Given the description of an element on the screen output the (x, y) to click on. 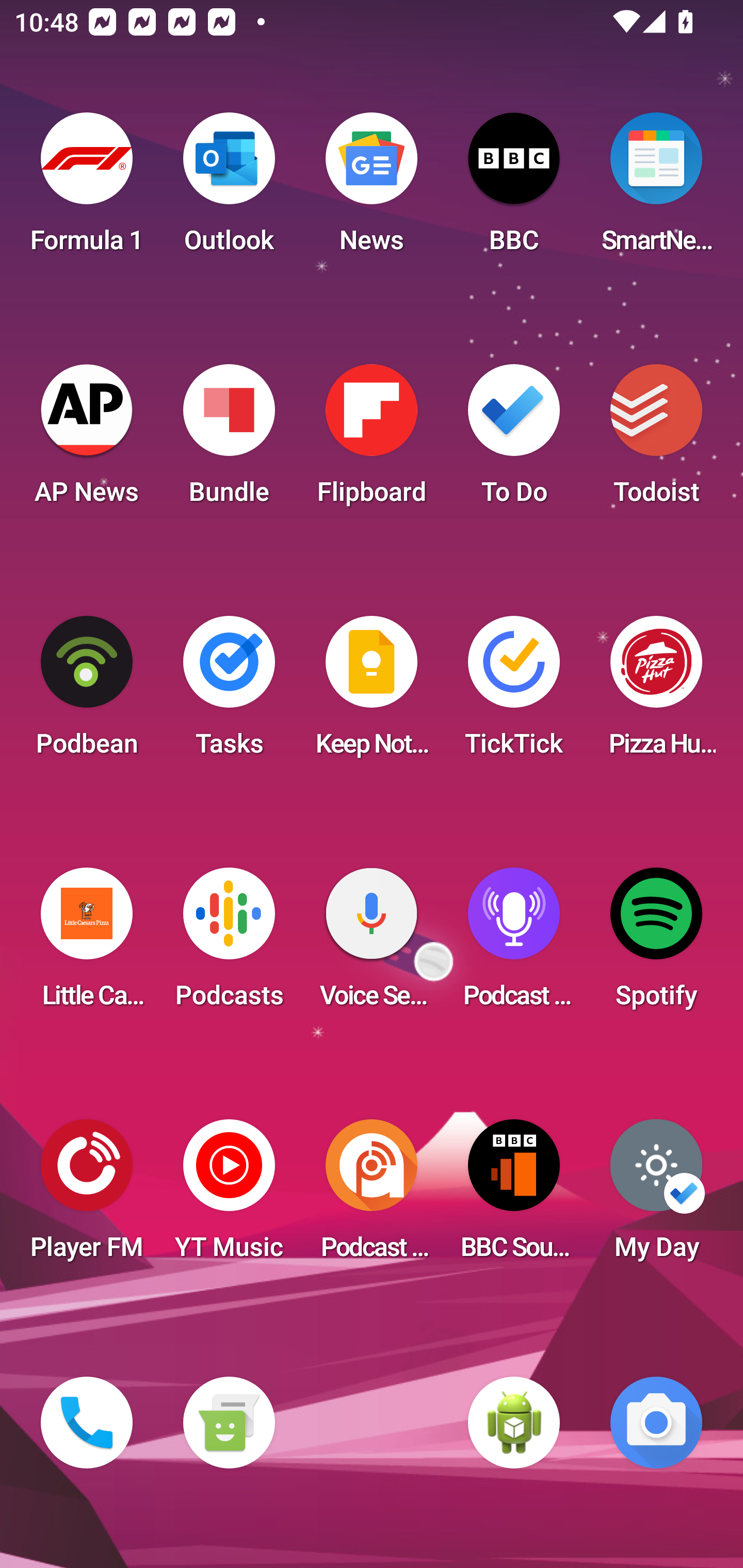
Formula 1 (86, 188)
Outlook (228, 188)
News (371, 188)
BBC (513, 188)
SmartNews (656, 188)
AP News (86, 440)
Bundle (228, 440)
Flipboard (371, 440)
To Do (513, 440)
Todoist (656, 440)
Podbean (86, 692)
Tasks (228, 692)
Keep Notes (371, 692)
TickTick (513, 692)
Pizza Hut HK & Macau (656, 692)
Little Caesars Pizza (86, 943)
Podcasts (228, 943)
Voice Search (371, 943)
Podcast Player (513, 943)
Spotify (656, 943)
Player FM (86, 1195)
YT Music (228, 1195)
Podcast Addict (371, 1195)
BBC Sounds (513, 1195)
My Day (656, 1195)
Phone (86, 1422)
Messaging (228, 1422)
WebView Browser Tester (513, 1422)
Camera (656, 1422)
